Given the description of an element on the screen output the (x, y) to click on. 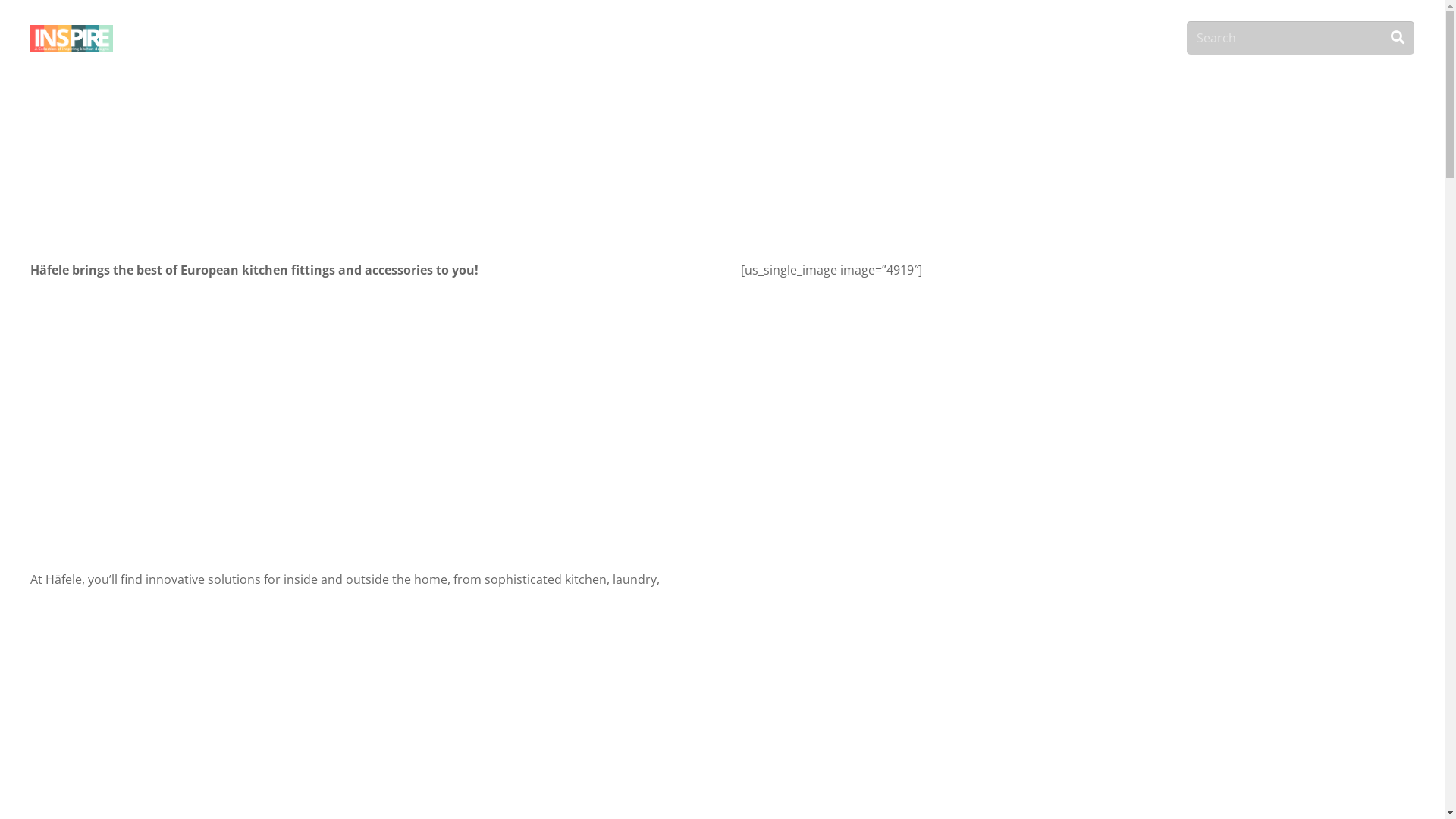
Be Inspired Element type: text (972, 37)
Home Element type: text (809, 37)
About Us Element type: text (883, 37)
Kitchens for Builders Element type: text (1095, 37)
